Given the description of an element on the screen output the (x, y) to click on. 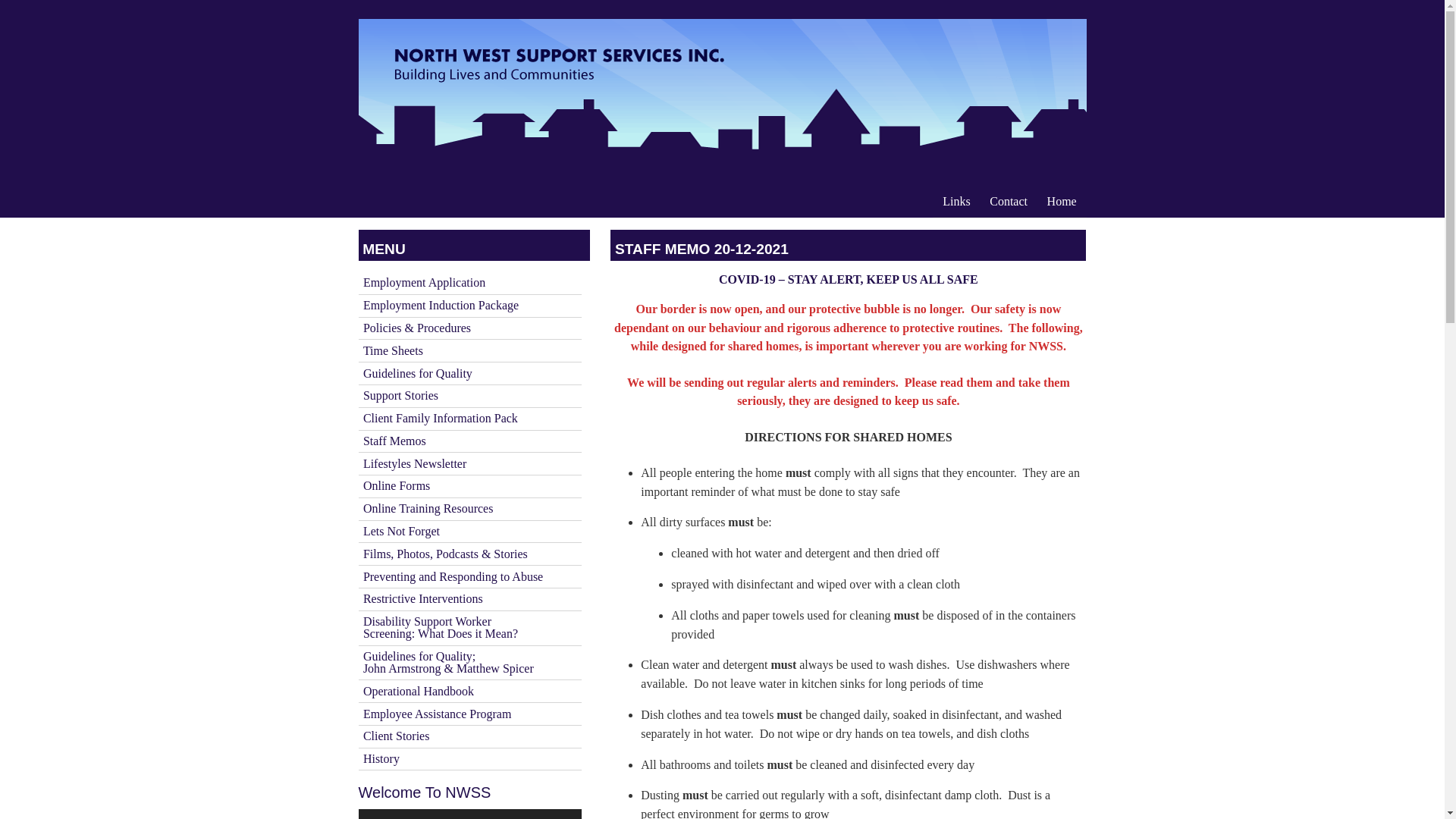
Employee Assistance Program (469, 713)
Lets Not Forget (469, 531)
Home (1061, 201)
Restrictive Interventions (469, 599)
Lifestyles Newsletter (469, 627)
Online Training Resources (469, 463)
Recruitment (469, 508)
Home (469, 282)
Client Family Information Pack (1061, 201)
Skip to content (469, 418)
Time Sheets (469, 759)
Operational Handbook (469, 350)
